Given the description of an element on the screen output the (x, y) to click on. 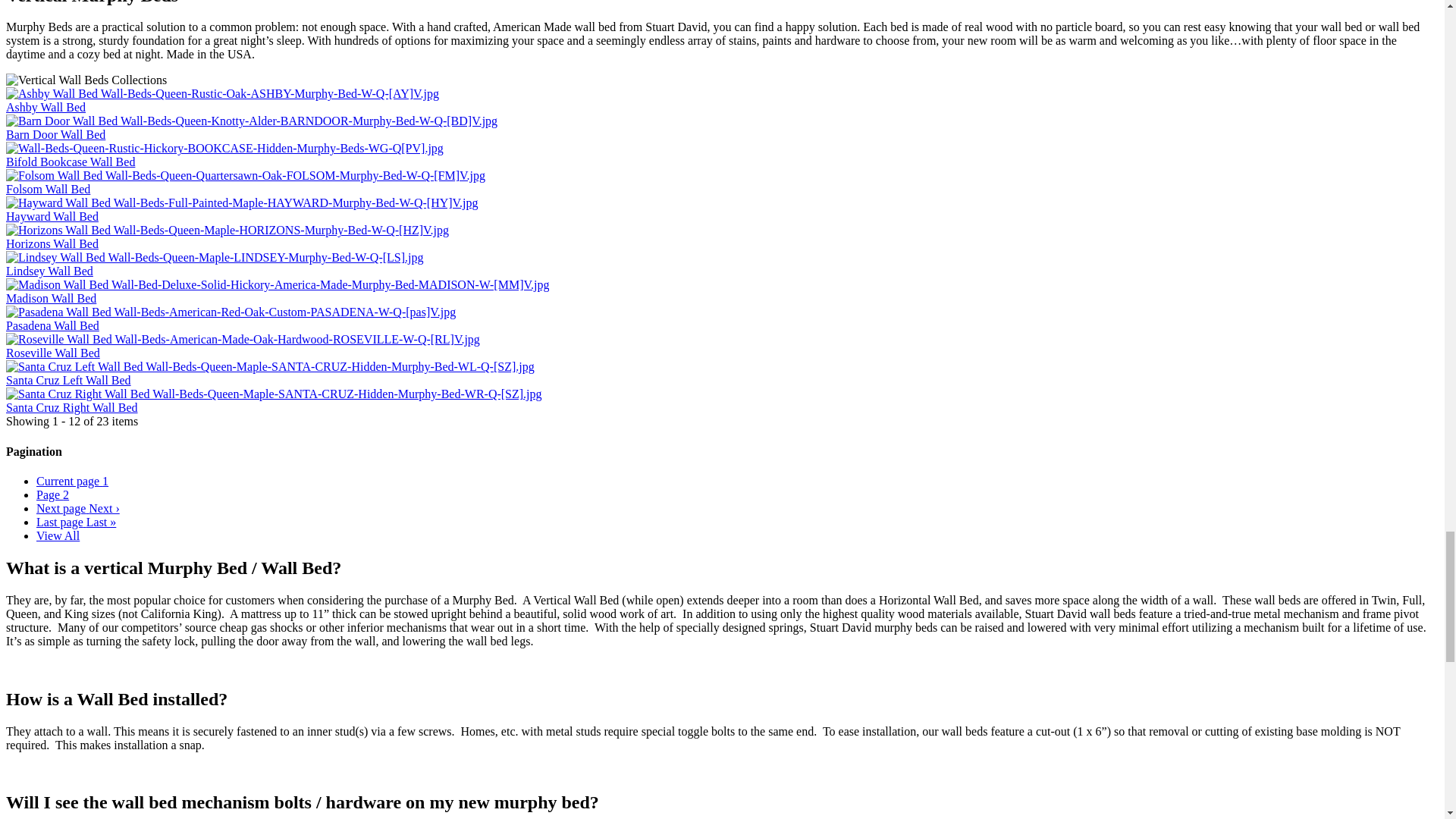
Vertical Wall Beds Collections (86, 79)
